Given the description of an element on the screen output the (x, y) to click on. 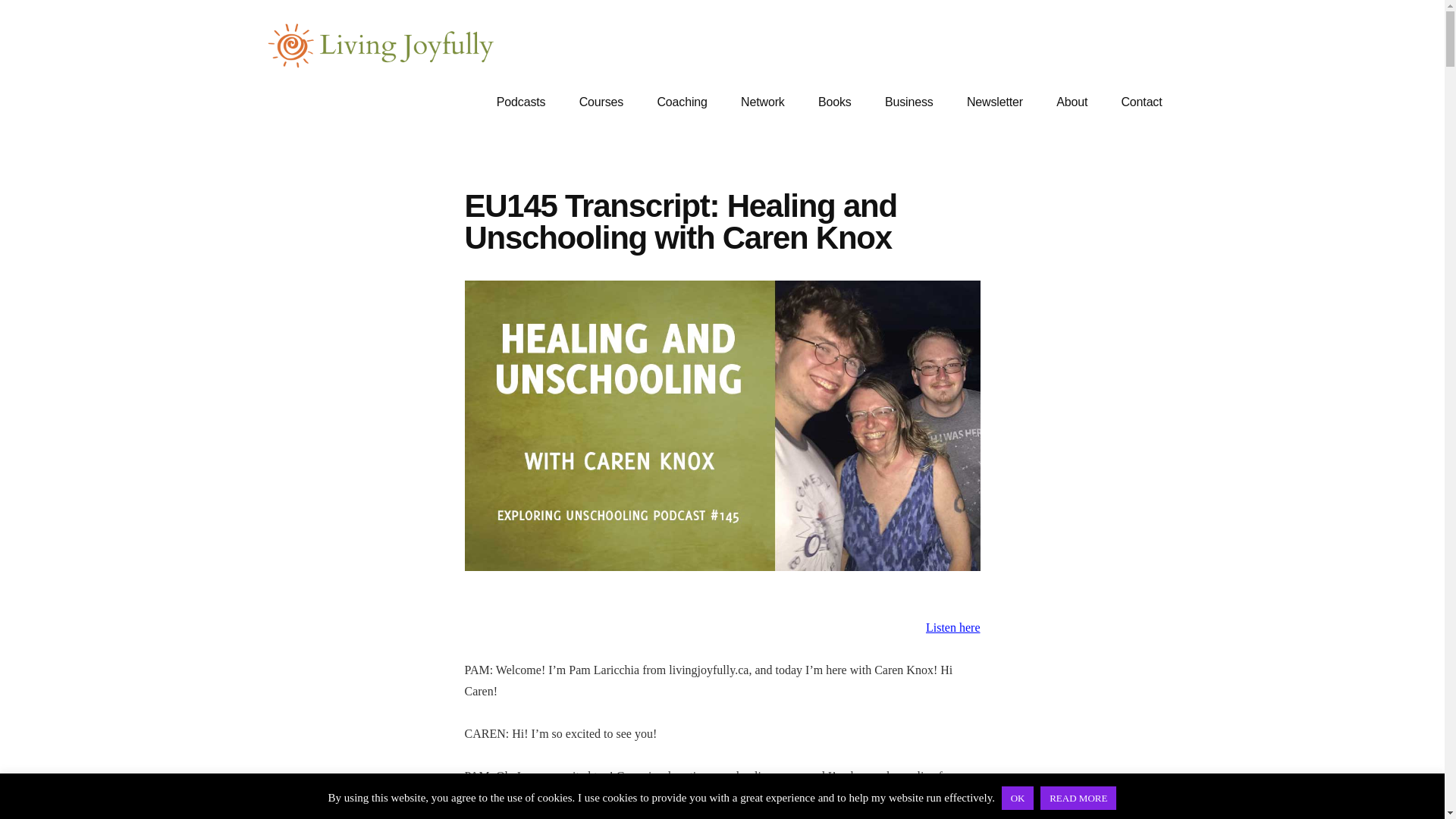
About (1071, 102)
Listen here (952, 626)
Coaching (682, 102)
READ MORE (1078, 797)
Newsletter (995, 102)
Courses (601, 102)
Books (834, 102)
OK (1017, 797)
Network (762, 102)
Podcasts (520, 102)
Business (909, 102)
Contact (1140, 102)
